Given the description of an element on the screen output the (x, y) to click on. 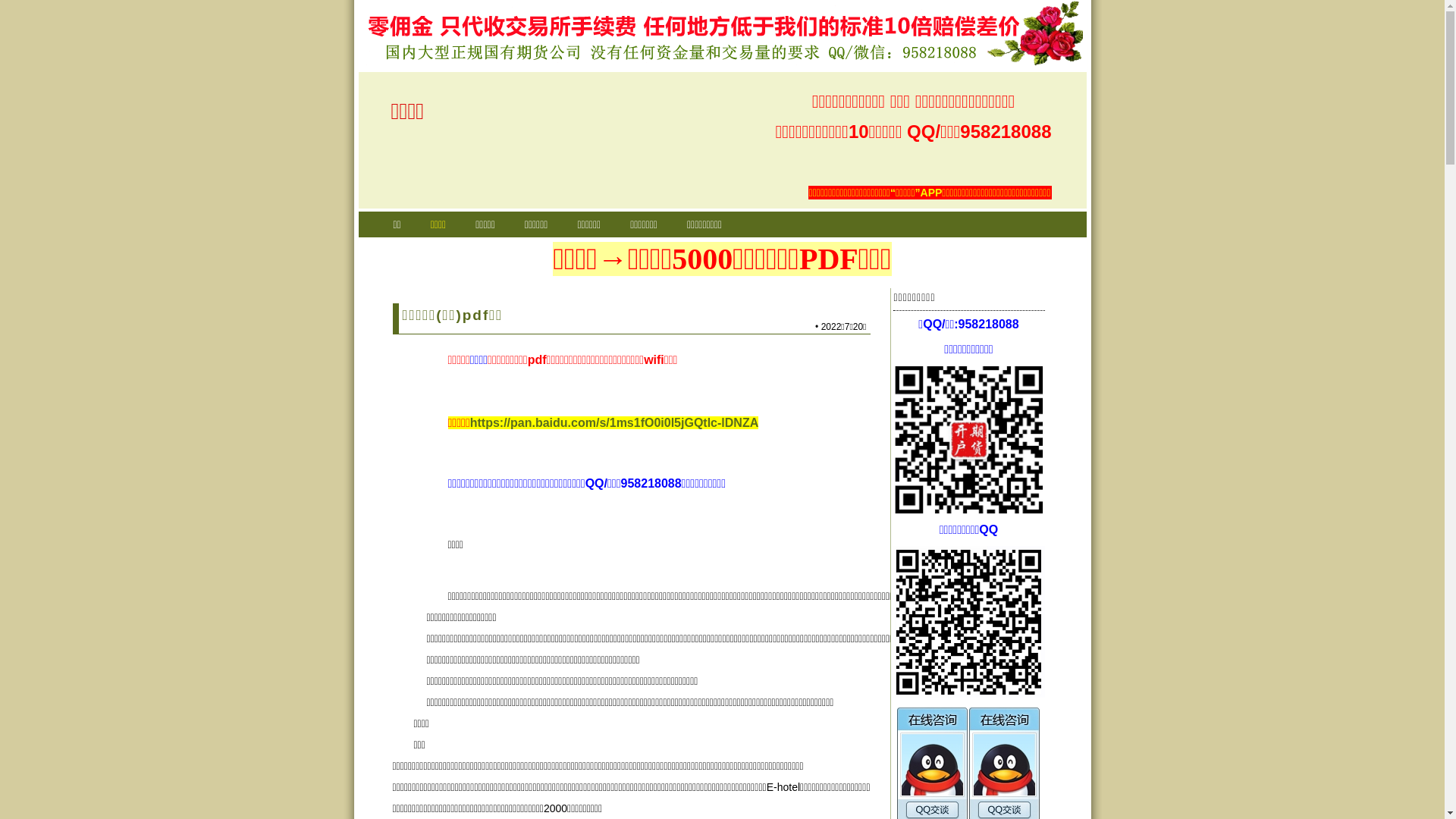
https://pan.baidu.com/s/1ms1fO0i0l5jGQtlc-lDNZA Element type: text (614, 422)
